Given the description of an element on the screen output the (x, y) to click on. 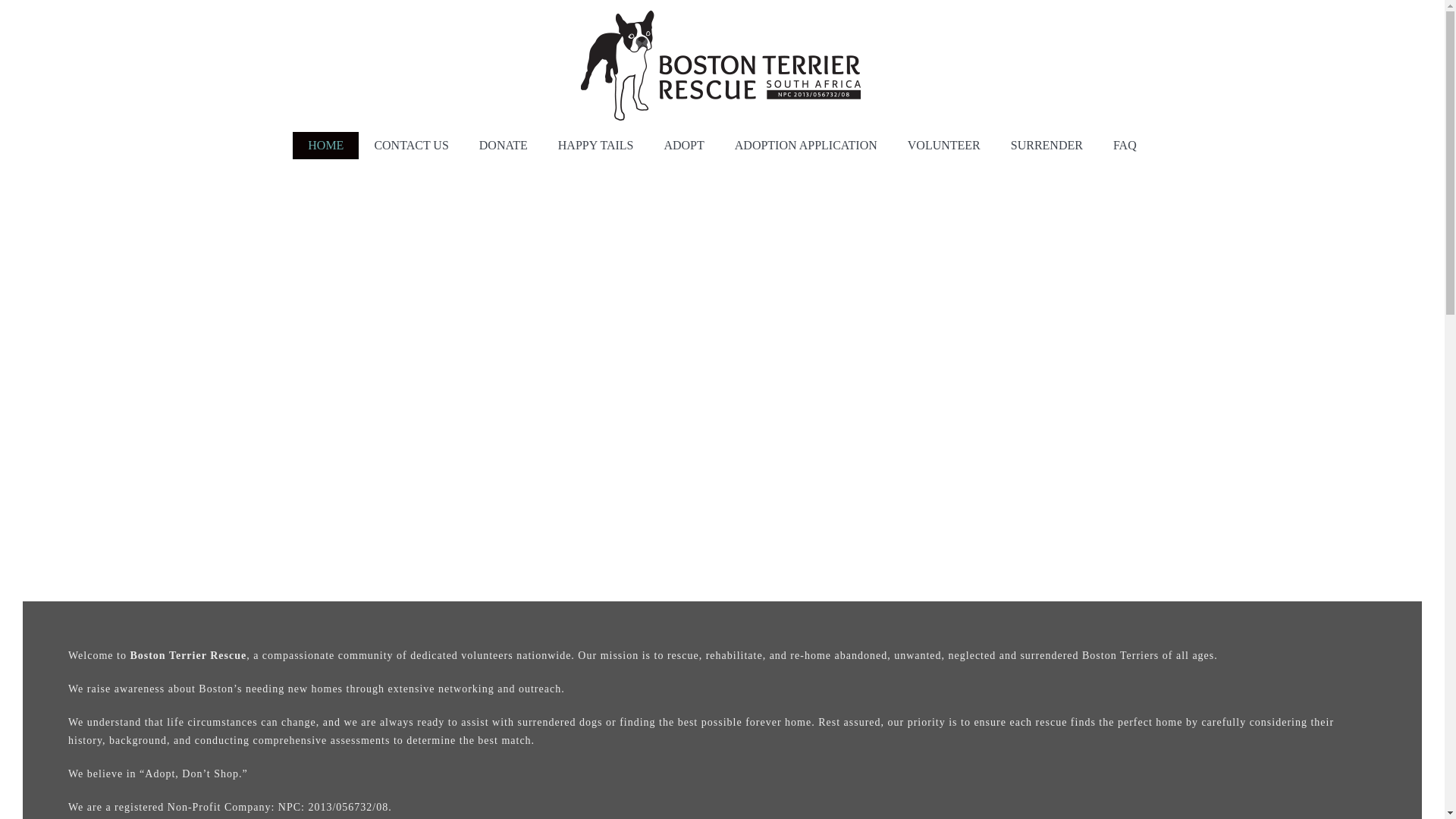
HOME (325, 144)
VOLUNTEER (943, 144)
DONATE (503, 144)
HAPPY TAILS (596, 144)
ADOPT (683, 144)
CONTACT US (410, 144)
FAQ (1124, 144)
SURRENDER (1046, 144)
ADOPTION APPLICATION (805, 144)
